Given the description of an element on the screen output the (x, y) to click on. 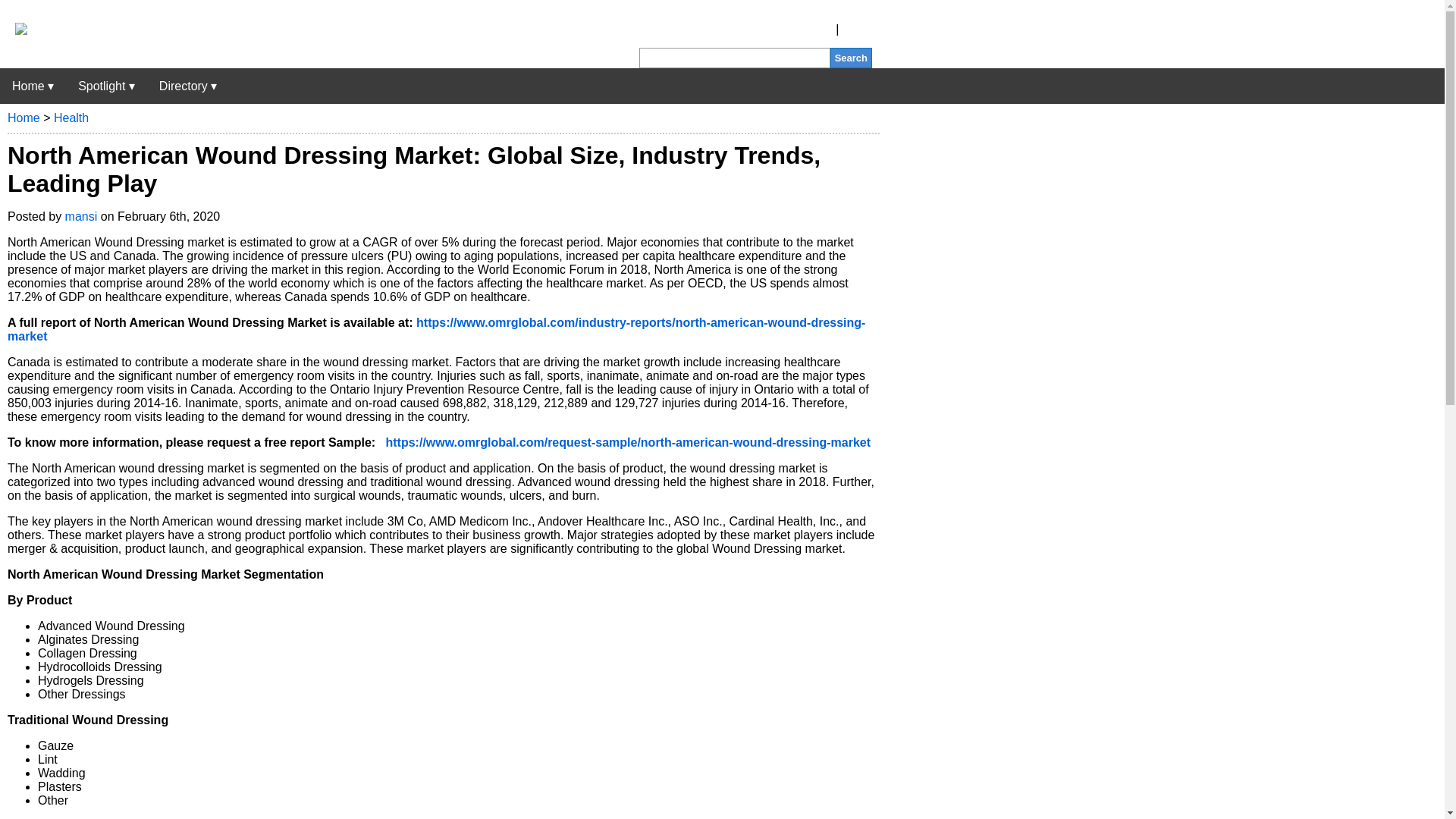
Login (857, 29)
Register (809, 29)
Uberant (13, 30)
Uberant (32, 85)
Search (850, 57)
Search (850, 57)
